Given the description of an element on the screen output the (x, y) to click on. 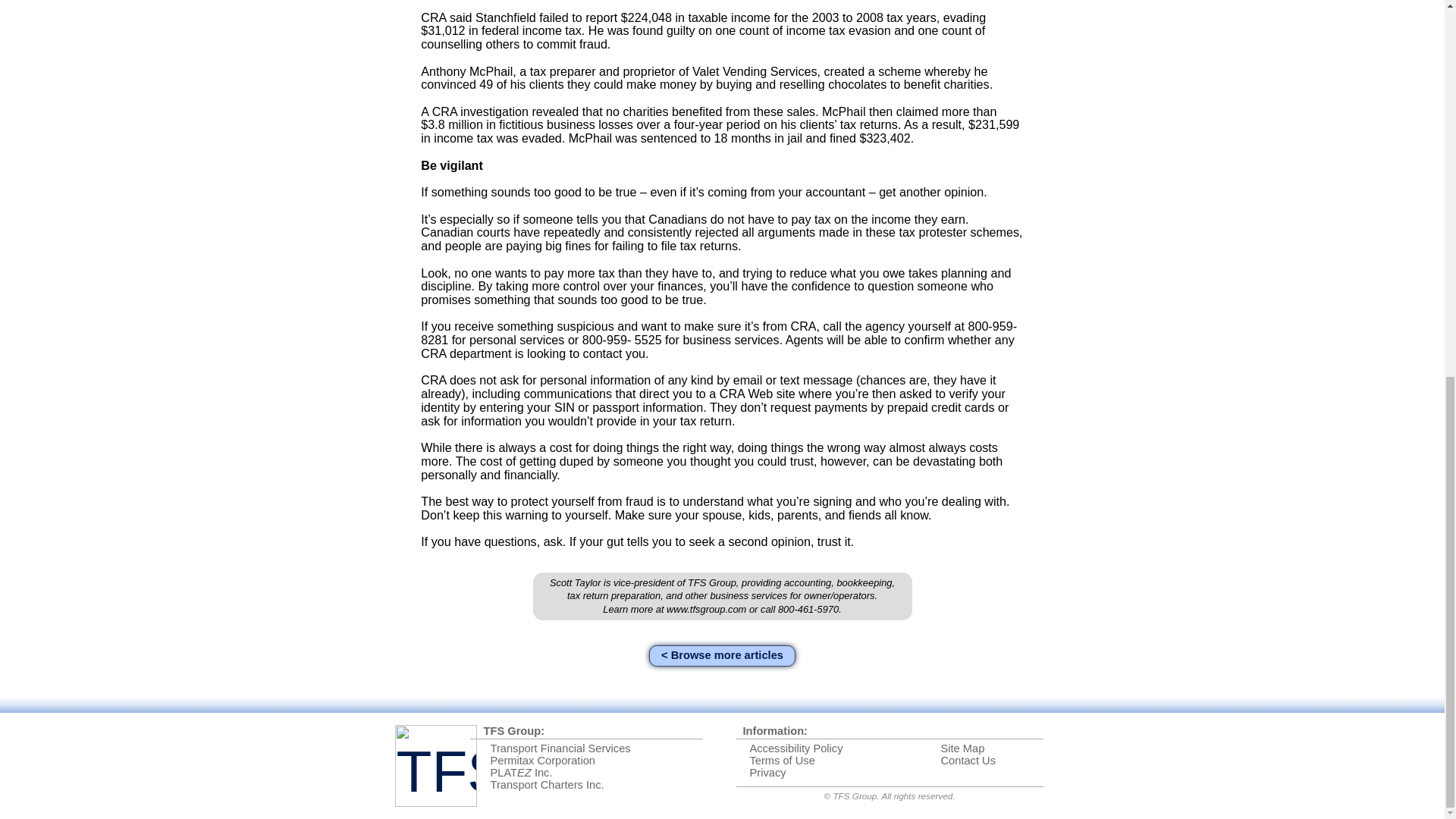
Transport Charters Inc. (546, 784)
Information: (775, 730)
Permitax Corporation (541, 760)
Site Map (962, 748)
Accessibility Policy (796, 748)
Transport Financial Services (559, 748)
PLATEZ Inc. (520, 772)
TFS Group: (513, 730)
Terms of Use (781, 760)
TFS Group logo (435, 765)
